Given the description of an element on the screen output the (x, y) to click on. 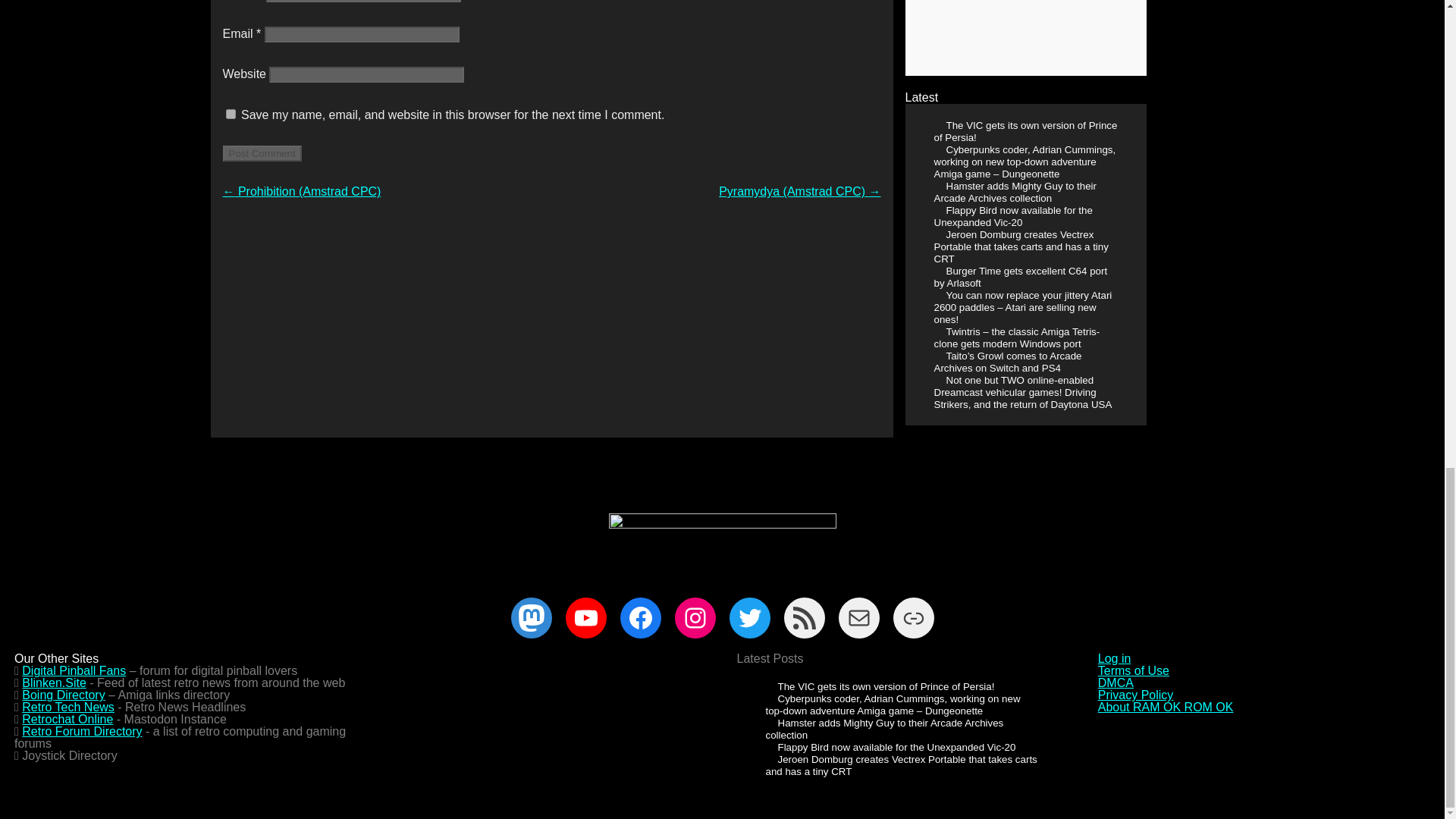
yes (230, 113)
Post Comment (261, 153)
Post Comment (261, 153)
